Given the description of an element on the screen output the (x, y) to click on. 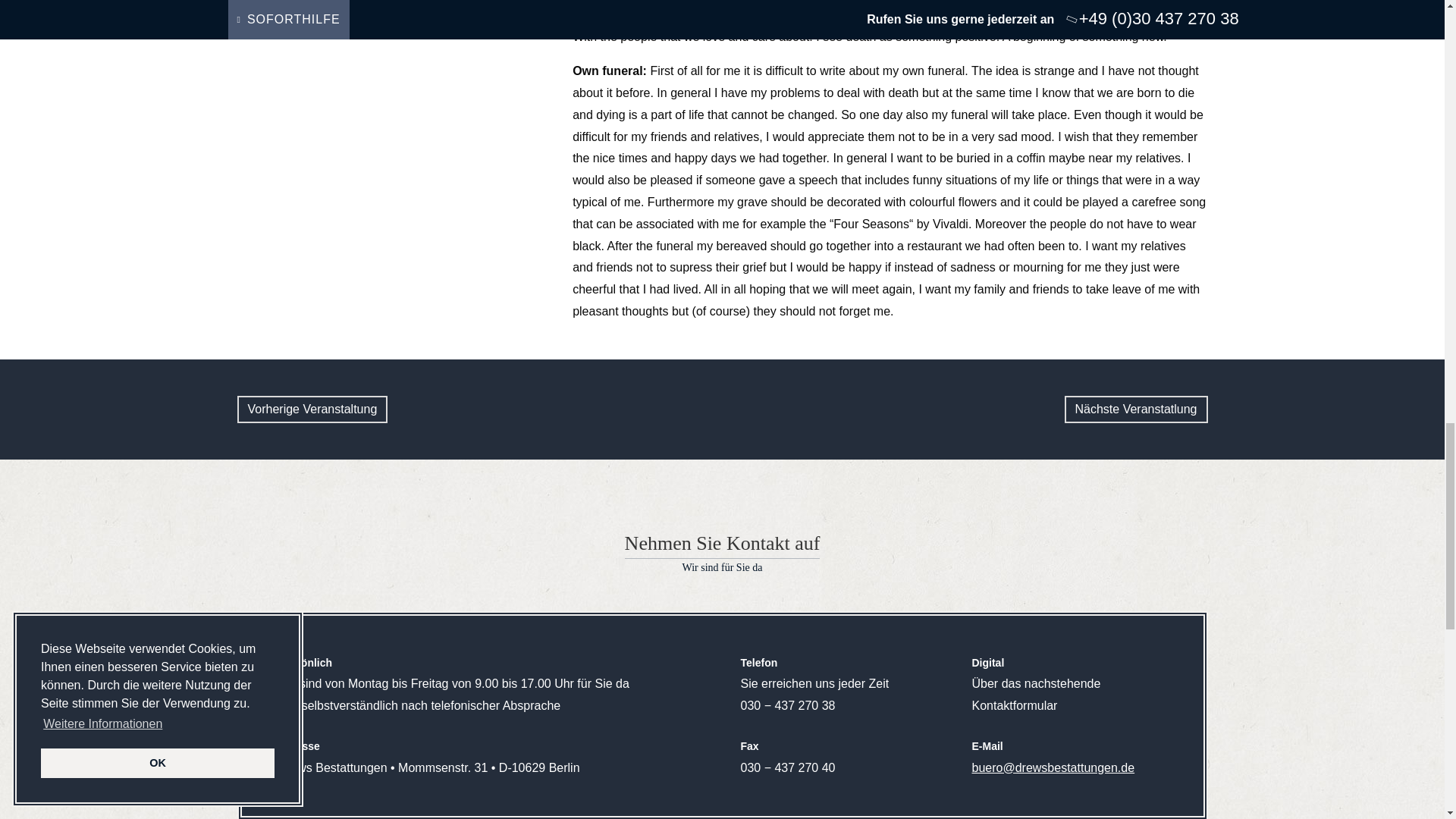
Vorherige Veranstaltung (311, 409)
